Given the description of an element on the screen output the (x, y) to click on. 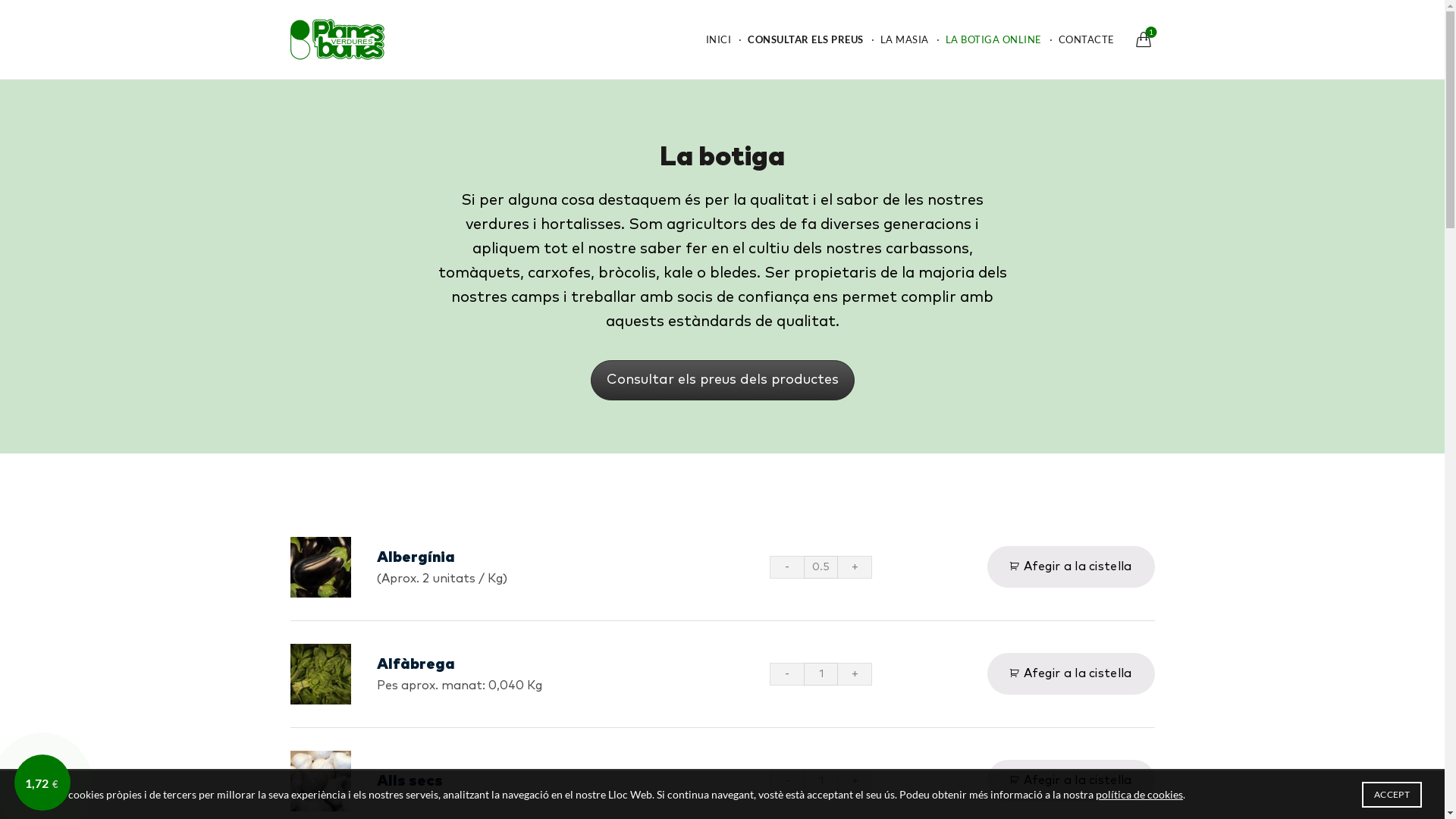
LA MASIA Element type: text (903, 39)
Consultar els preus dels productes Element type: text (721, 380)
Quant. Element type: hover (820, 673)
1 Element type: text (1142, 44)
CONTACTE Element type: text (1086, 39)
Afegir a la cistella Element type: text (1070, 673)
Afegir a la cistella Element type: text (1070, 780)
INICI Element type: text (717, 39)
Quant. Element type: hover (820, 566)
Quant. Element type: hover (820, 780)
Afegir a la cistella Element type: text (1070, 566)
ACCEPT Element type: text (1391, 794)
LA BOTIGA ONLINE Element type: text (992, 39)
CONSULTAR ELS PREUS Element type: text (805, 39)
